Given the description of an element on the screen output the (x, y) to click on. 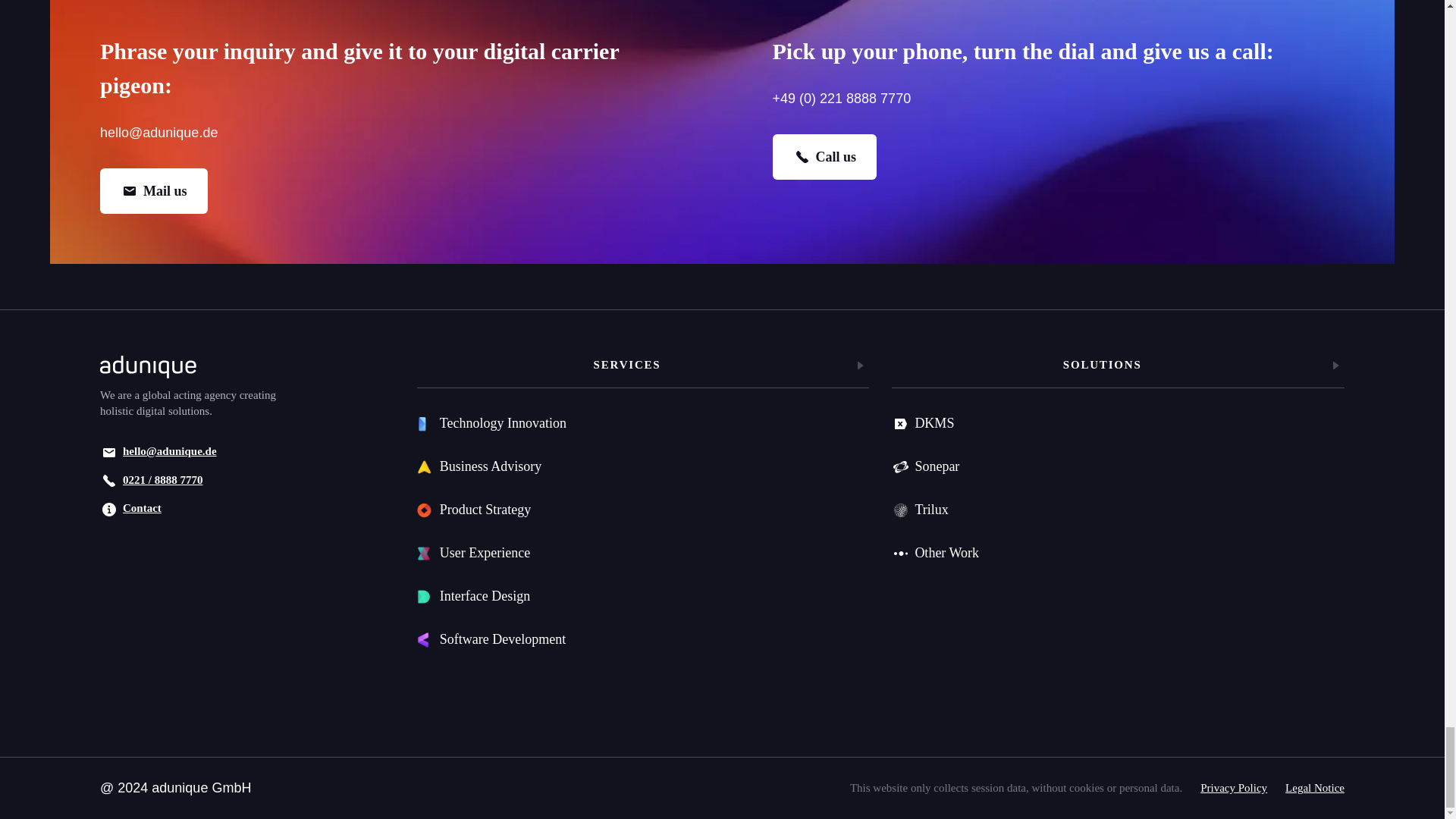
Call us (823, 156)
Call us (823, 156)
Mail us (154, 190)
Mail us (154, 190)
